Given the description of an element on the screen output the (x, y) to click on. 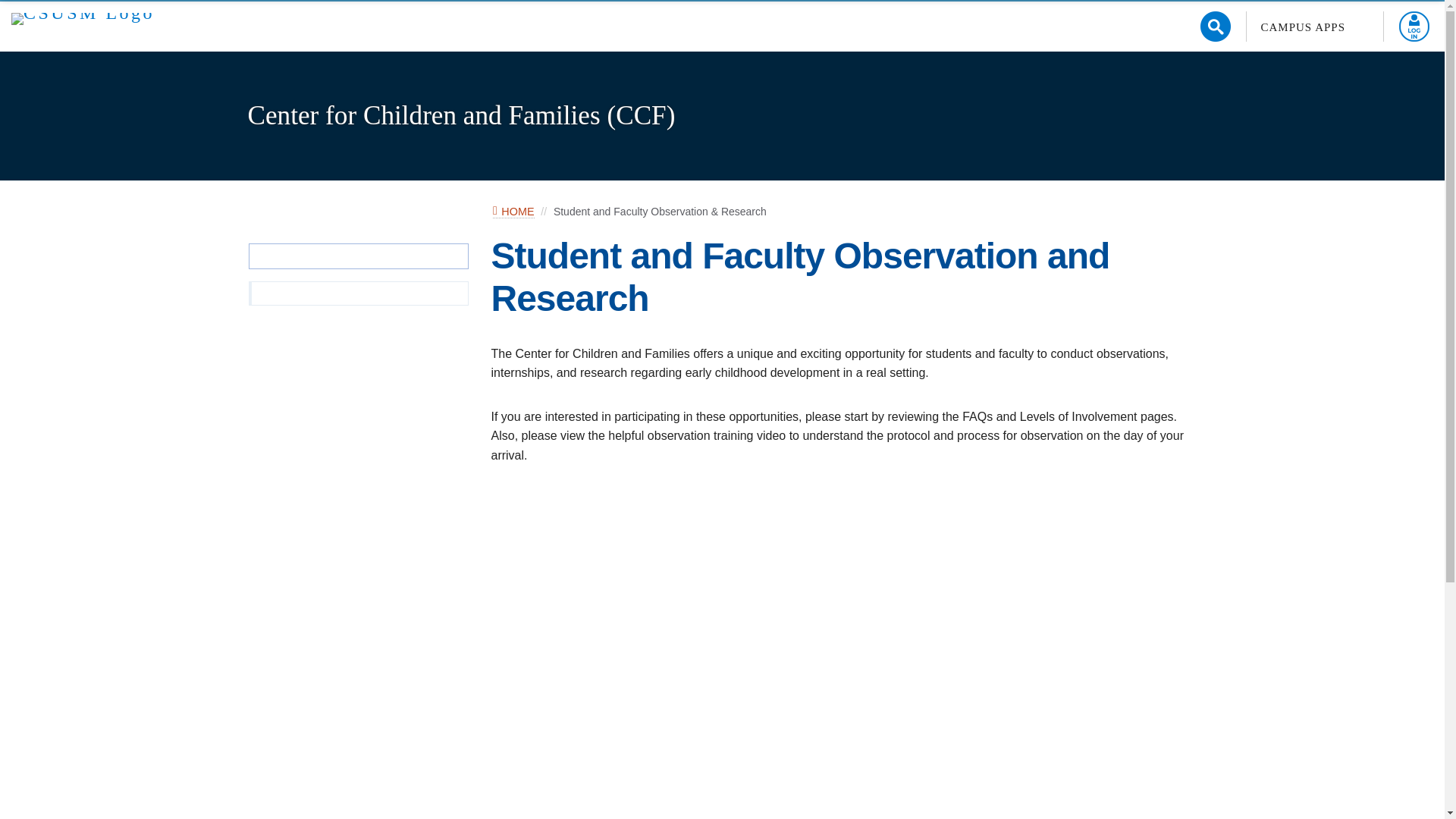
CAMPUS APPS (1314, 27)
